Given the description of an element on the screen output the (x, y) to click on. 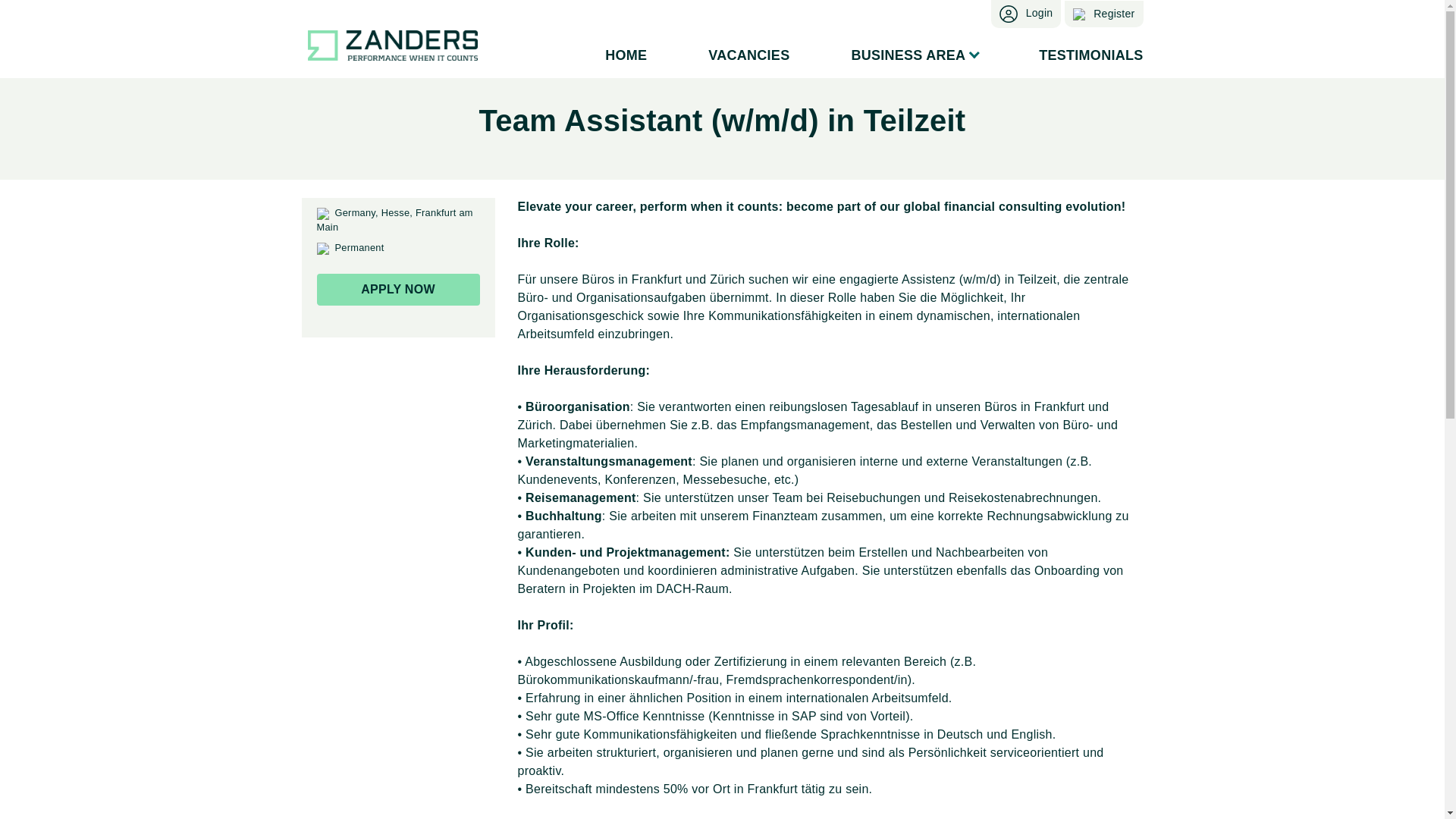
BUSINESS AREA (913, 55)
Login (1026, 13)
Business Area (913, 55)
Register (1103, 13)
APPLY NOW (398, 289)
Home (625, 55)
Testimonials (1079, 55)
HOME (625, 55)
Vacancies (748, 55)
TESTIMONIALS (1079, 55)
